Given the description of an element on the screen output the (x, y) to click on. 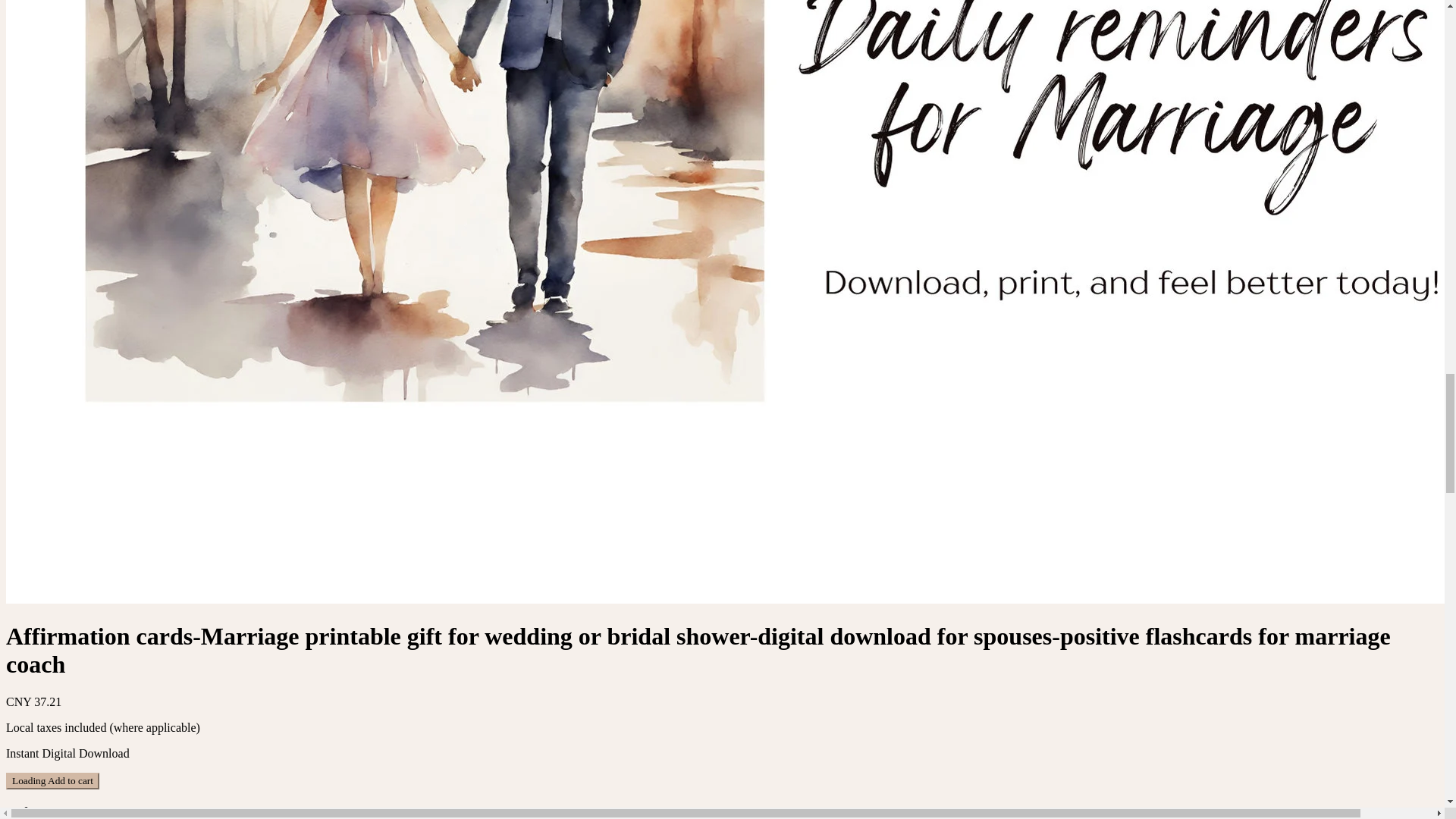
Loading Add to cart (52, 781)
